Given the description of an element on the screen output the (x, y) to click on. 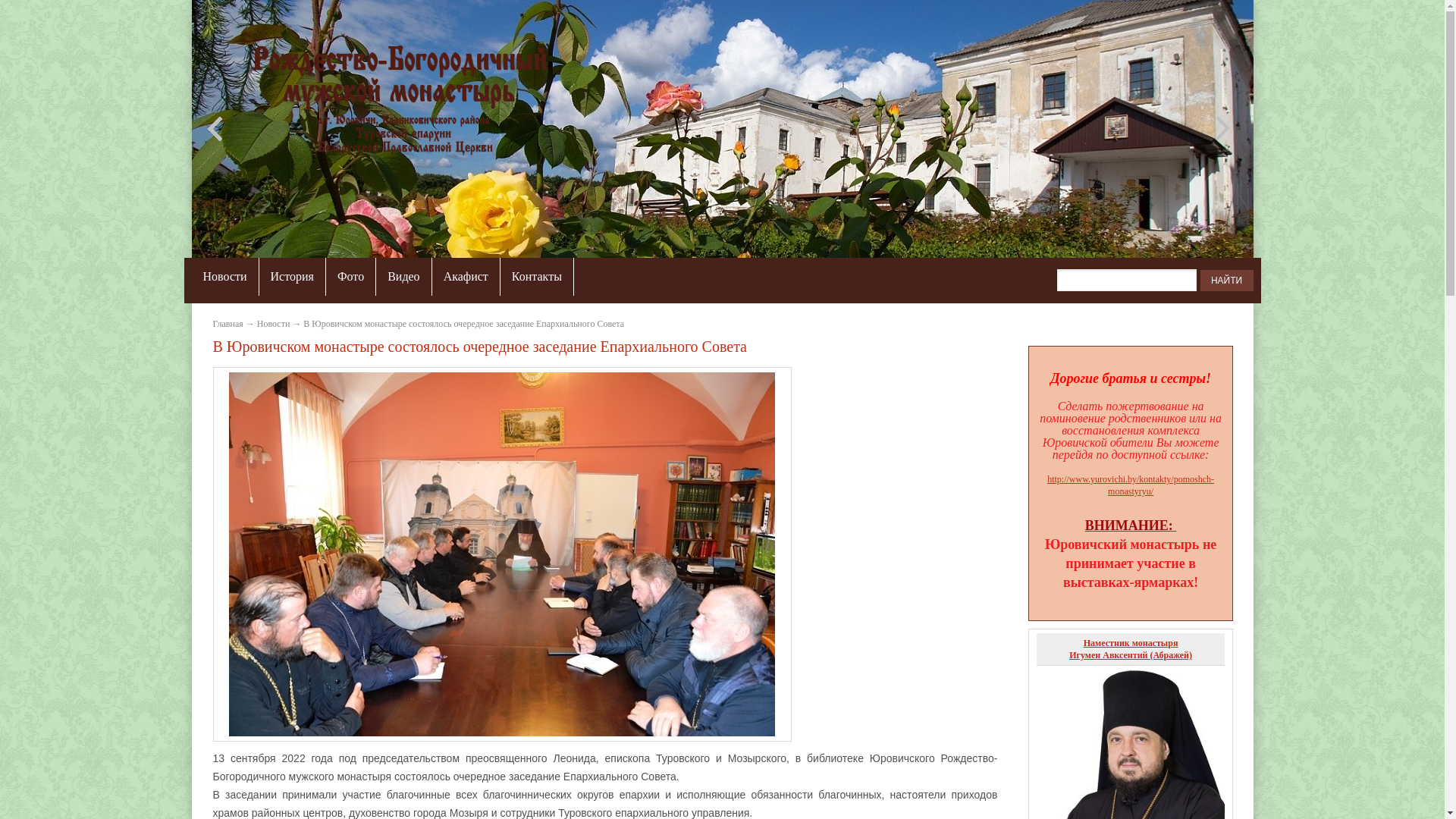
> Element type: text (1220, 128)
< Element type: text (217, 128)
http://www.yurovichi.by/kontakty/pomoshch-monastyryu/ Element type: text (1130, 484)
